Given the description of an element on the screen output the (x, y) to click on. 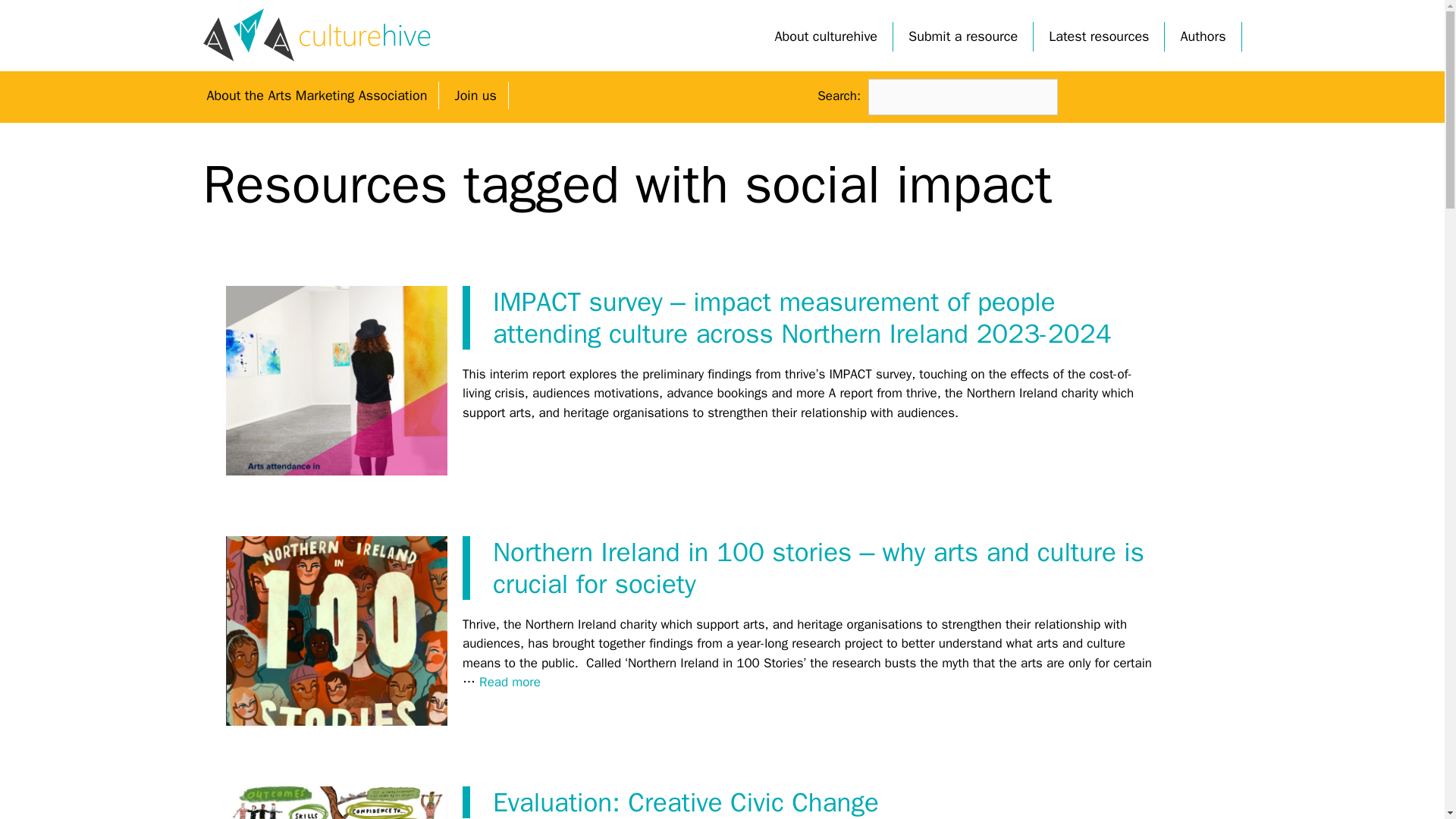
About culturehive (826, 36)
Authors (1202, 36)
Read more (509, 682)
Latest resources (1098, 36)
About the Arts Marketing Association (317, 94)
Join us (475, 94)
Submit a resource (962, 36)
Evaluation: Creative Civic Change (686, 802)
CultureHive (316, 34)
CultureHive (316, 35)
